Given the description of an element on the screen output the (x, y) to click on. 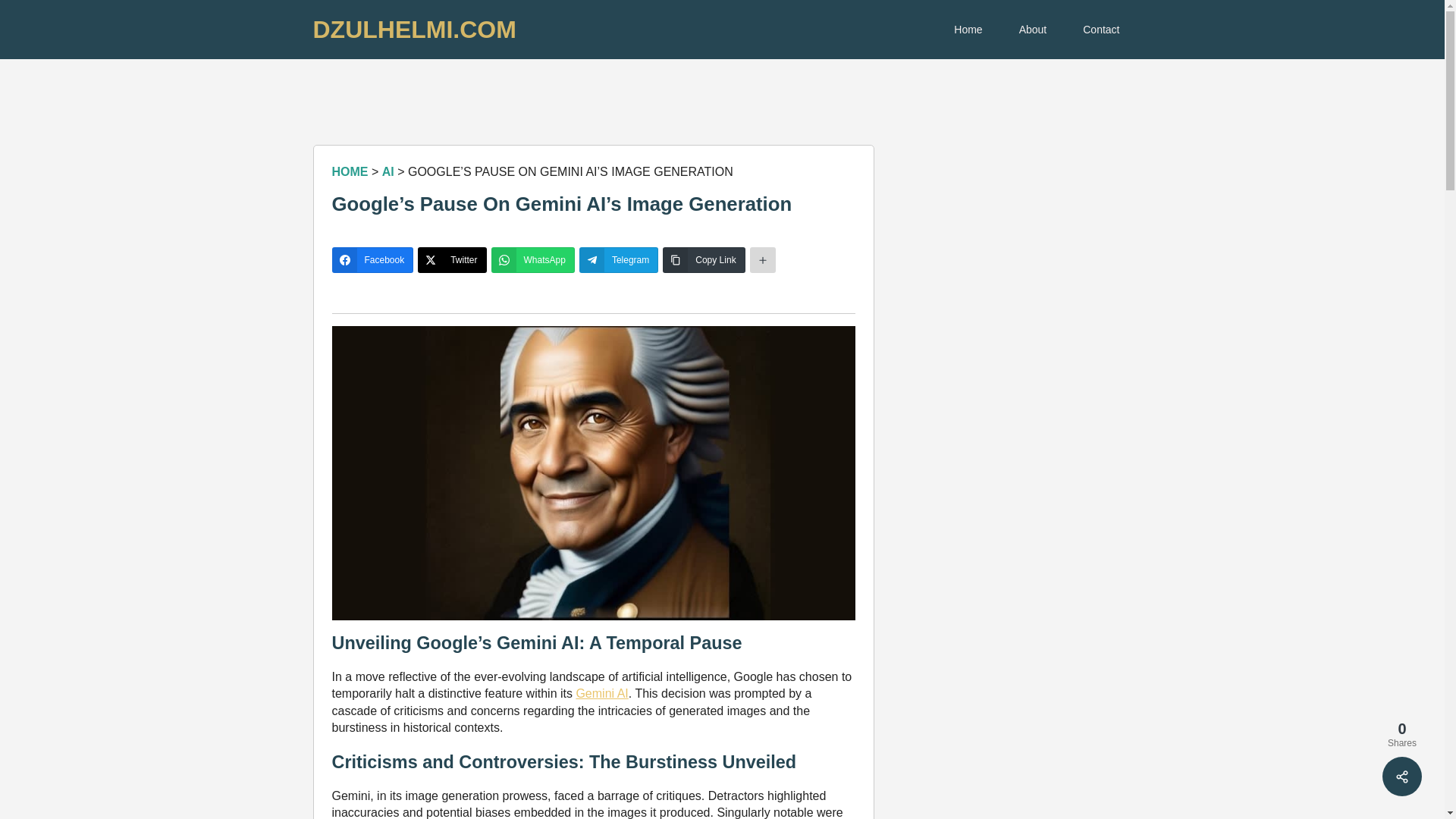
Contact (1100, 29)
Facebook (372, 259)
About (1033, 29)
AI (387, 171)
Twitter (451, 259)
HOME (349, 171)
Copy Link (703, 259)
DZULHELMI.COM (414, 29)
Gemini AI (601, 693)
Telegram (618, 259)
Home (968, 29)
WhatsApp (533, 259)
